Given the description of an element on the screen output the (x, y) to click on. 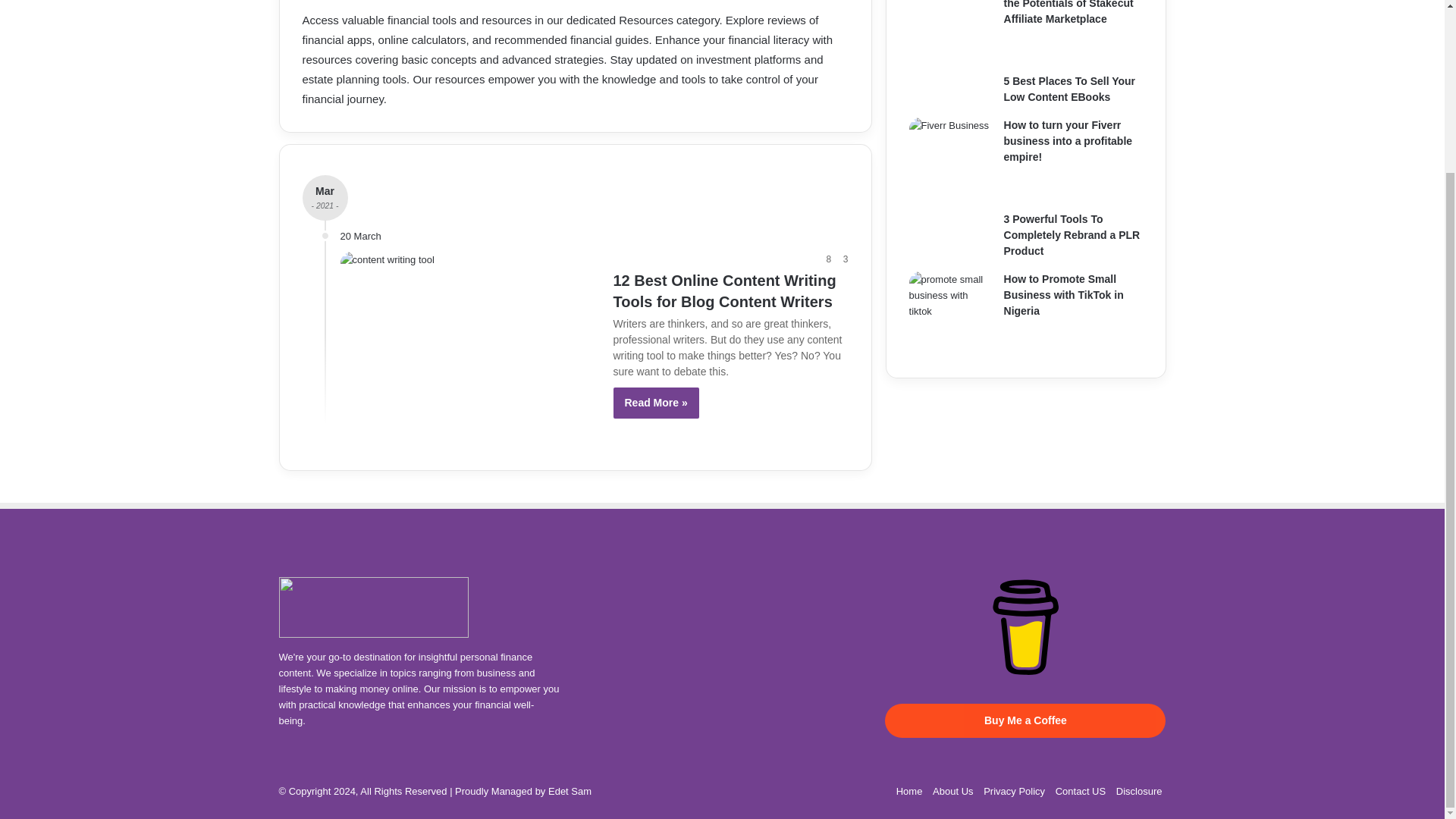
5 Best Places To Sell Your Low Content EBooks (1069, 89)
Buy now! (1014, 790)
Buy Me a Coffee (1025, 627)
How to turn your Fiverr business into a profitable empire! (1068, 140)
